Given the description of an element on the screen output the (x, y) to click on. 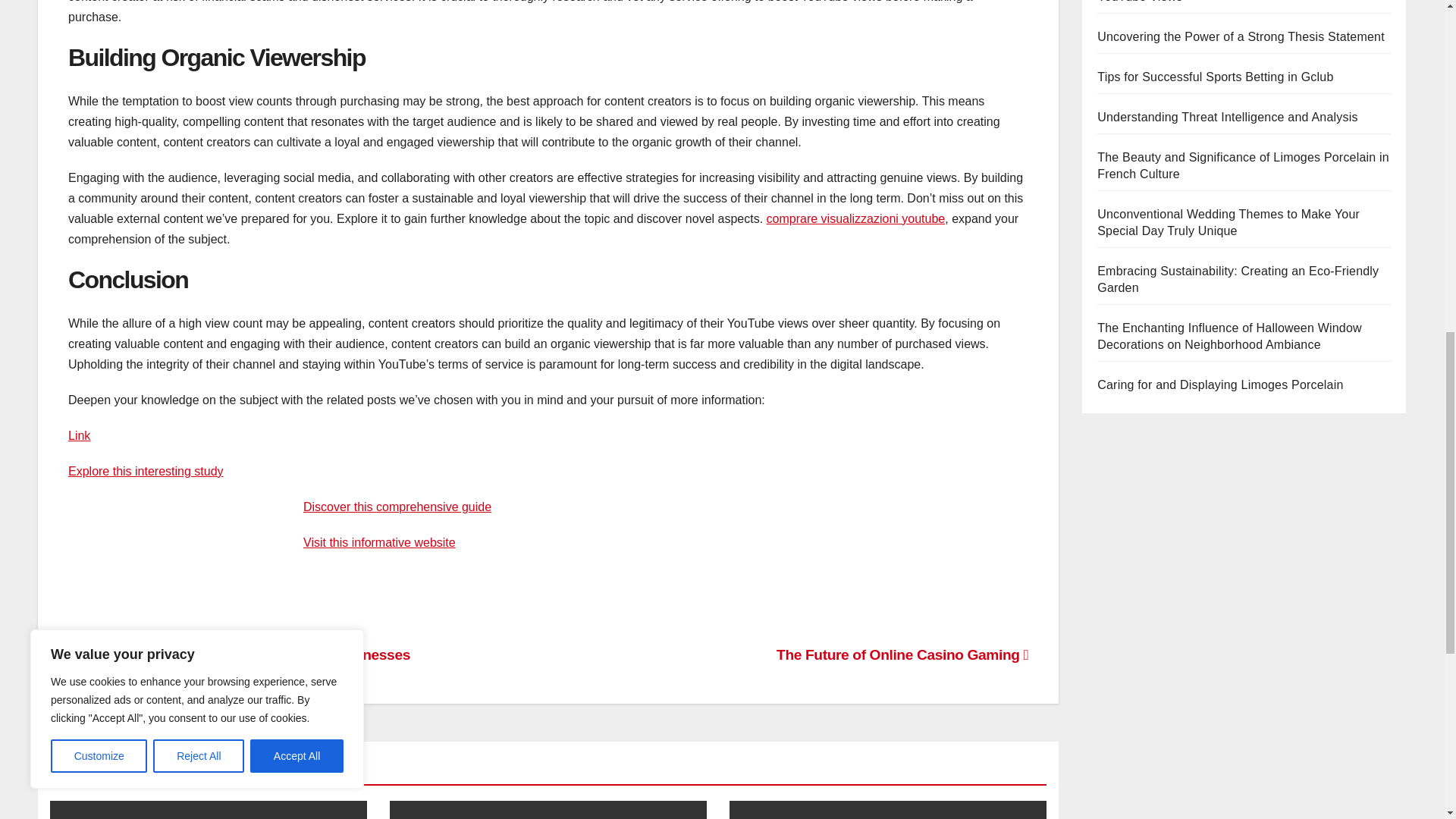
Discover this comprehensive guide (397, 506)
Link (79, 435)
The Benefits of Renewable Energy for Businesses (239, 654)
Explore this interesting study (146, 471)
Visit this informative website (378, 542)
comprare visualizzazioni youtube (855, 218)
The Future of Online Casino Gaming (901, 654)
